Given the description of an element on the screen output the (x, y) to click on. 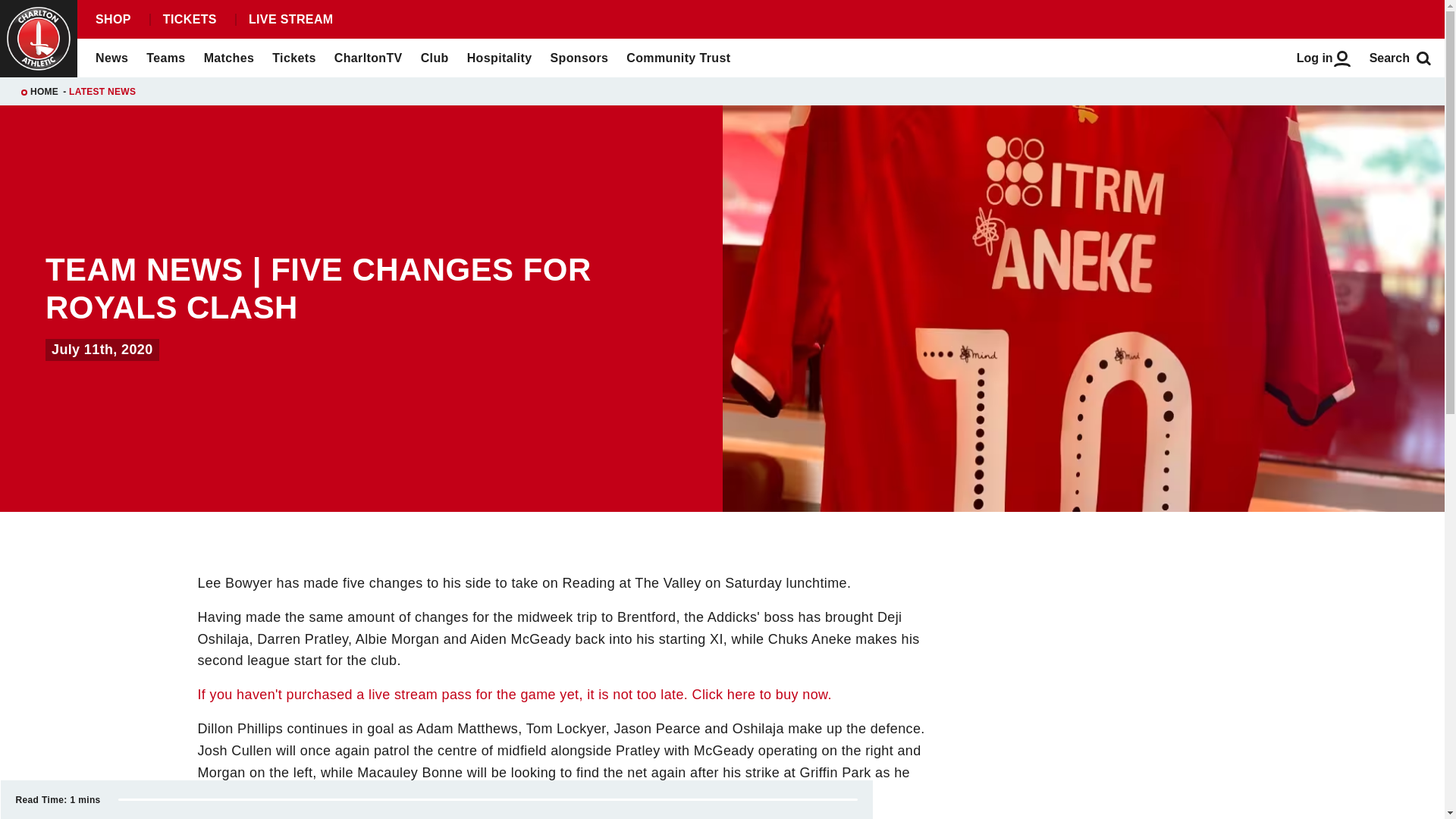
Teams (165, 57)
TICKETS (188, 19)
Matches (228, 57)
Teams (165, 57)
LIVE STREAM (290, 19)
SHOP (112, 19)
